Given the description of an element on the screen output the (x, y) to click on. 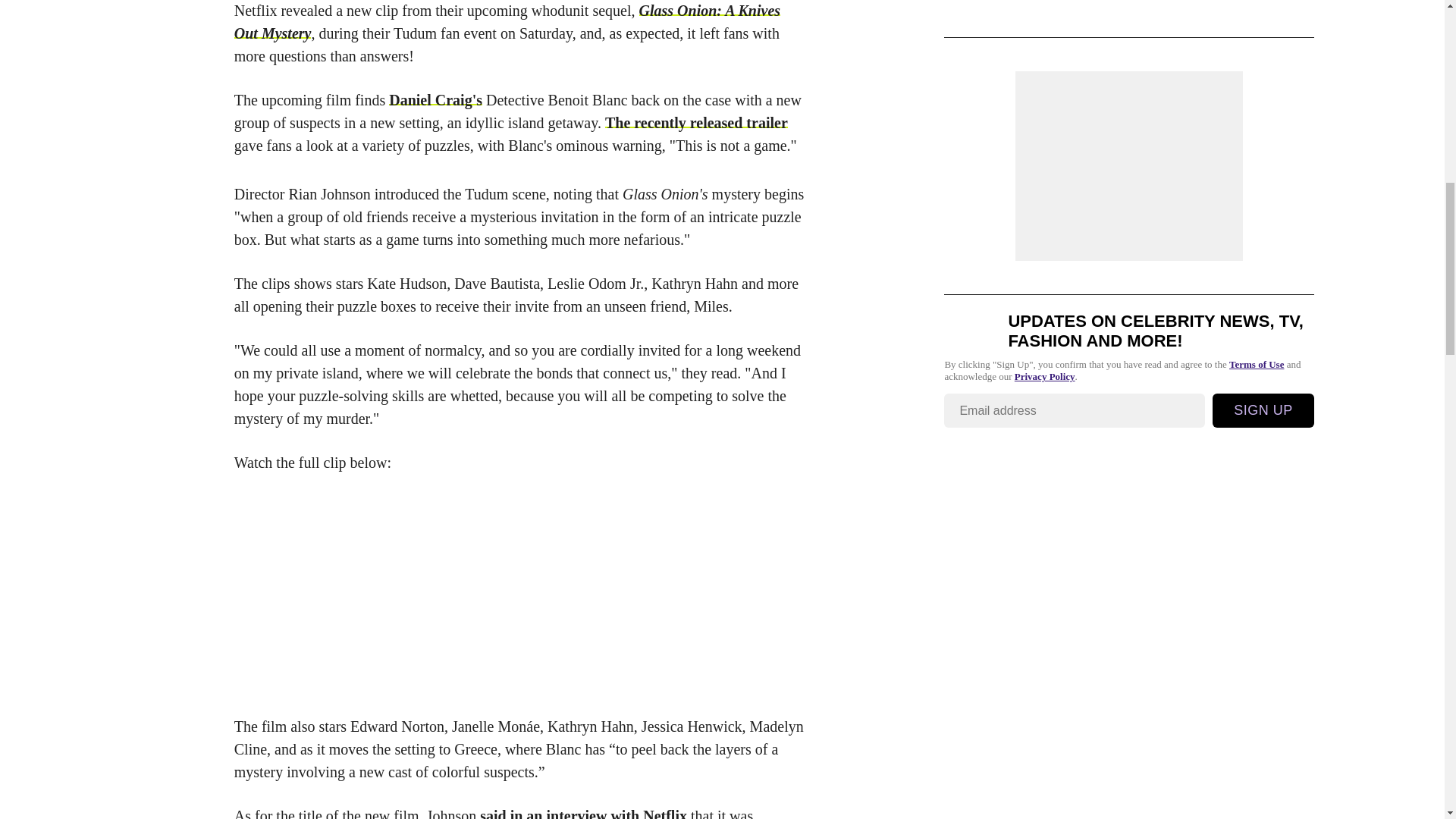
said in an interview with Netflix (583, 813)
The recently released trailer (696, 122)
Daniel Craig's (434, 99)
Glass Onion: A Knives Out Mystery (507, 21)
